Given the description of an element on the screen output the (x, y) to click on. 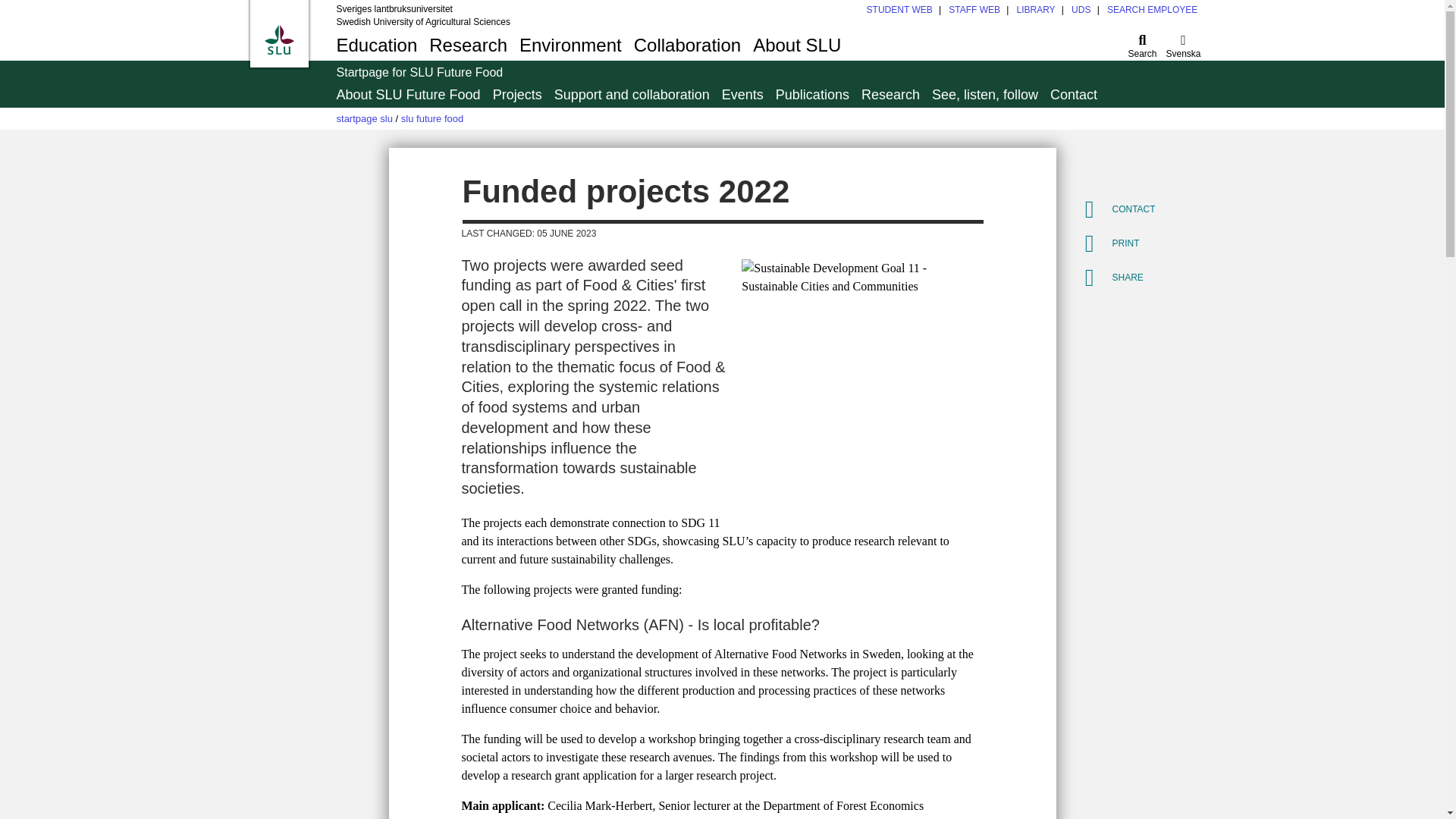
STUDENT WEB (899, 9)
Swedish University of Agricultural Sciences logo (278, 39)
LIBRARY (1035, 9)
SEARCH EMPLOYEE (1151, 9)
Search (1142, 45)
STAFF WEB (720, 45)
UDS (974, 9)
Education (1080, 9)
Svenska (376, 45)
